Given the description of an element on the screen output the (x, y) to click on. 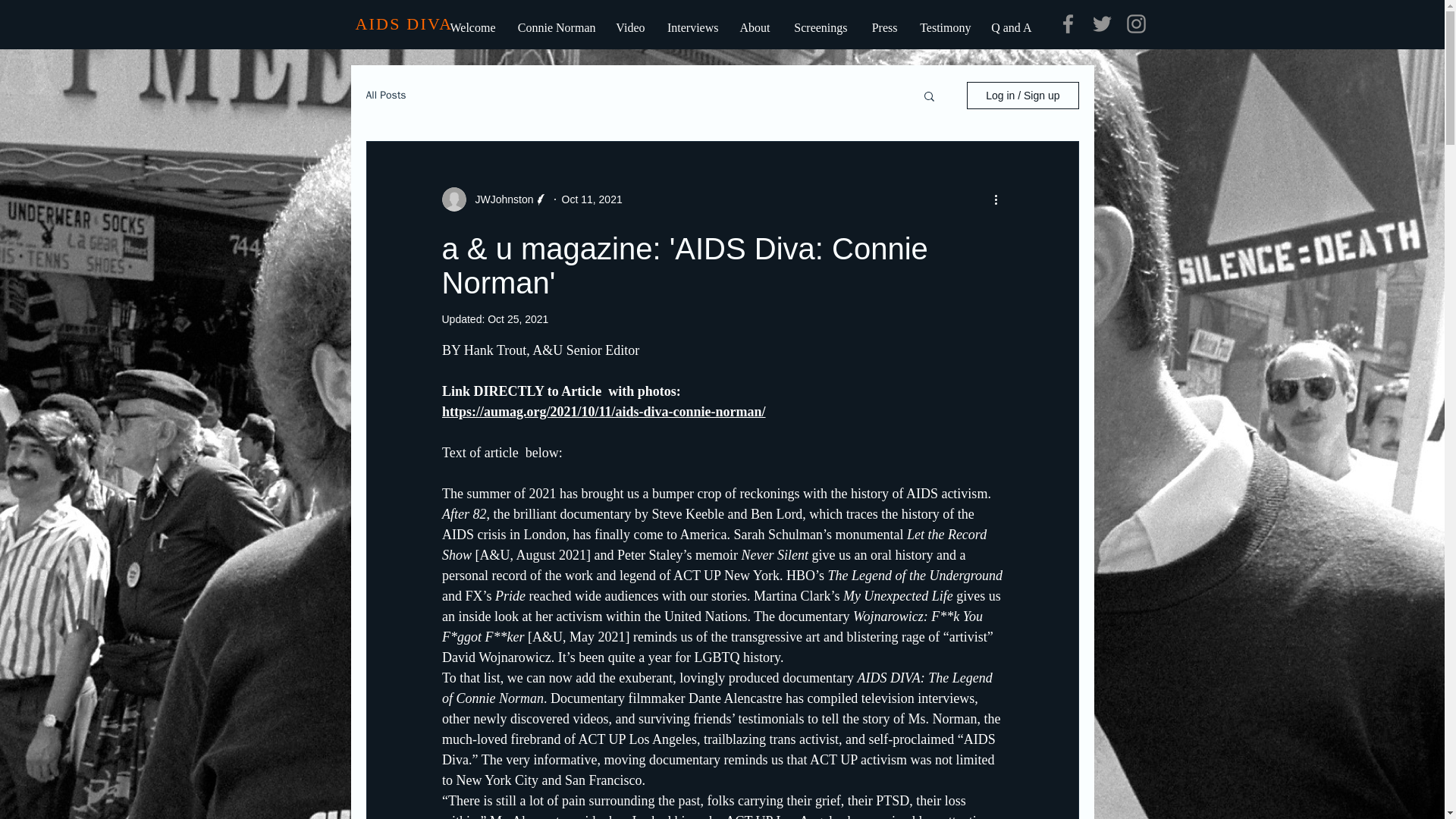
Q and A (1011, 27)
Testimony (943, 27)
All Posts (385, 95)
Connie Norman (555, 27)
Welcome (470, 27)
Oct 11, 2021 (592, 198)
AIDS DIVA (403, 23)
Oct 25, 2021 (517, 318)
Interviews (692, 27)
About (753, 27)
